Given the description of an element on the screen output the (x, y) to click on. 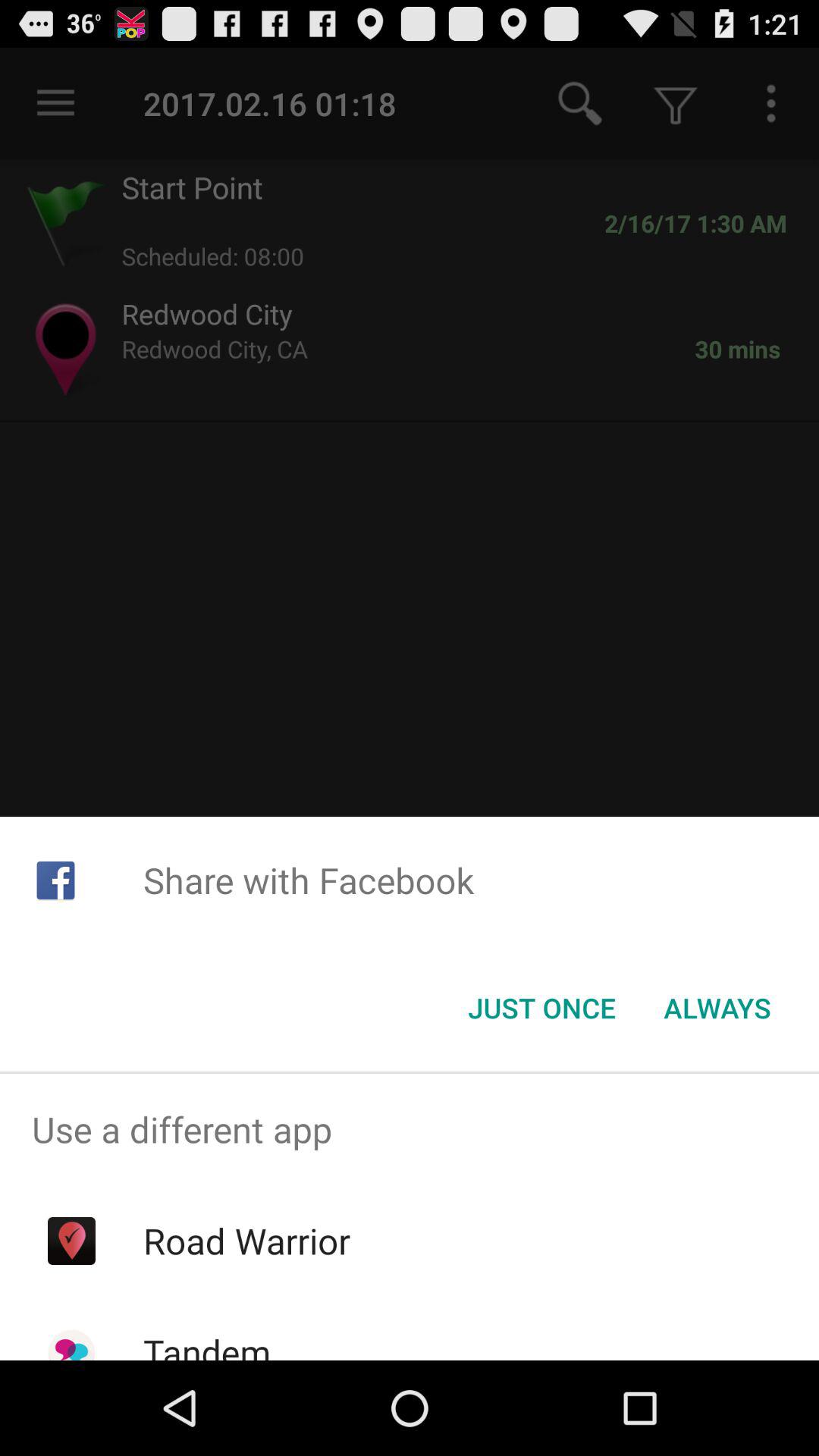
press item next to just once icon (717, 1007)
